Given the description of an element on the screen output the (x, y) to click on. 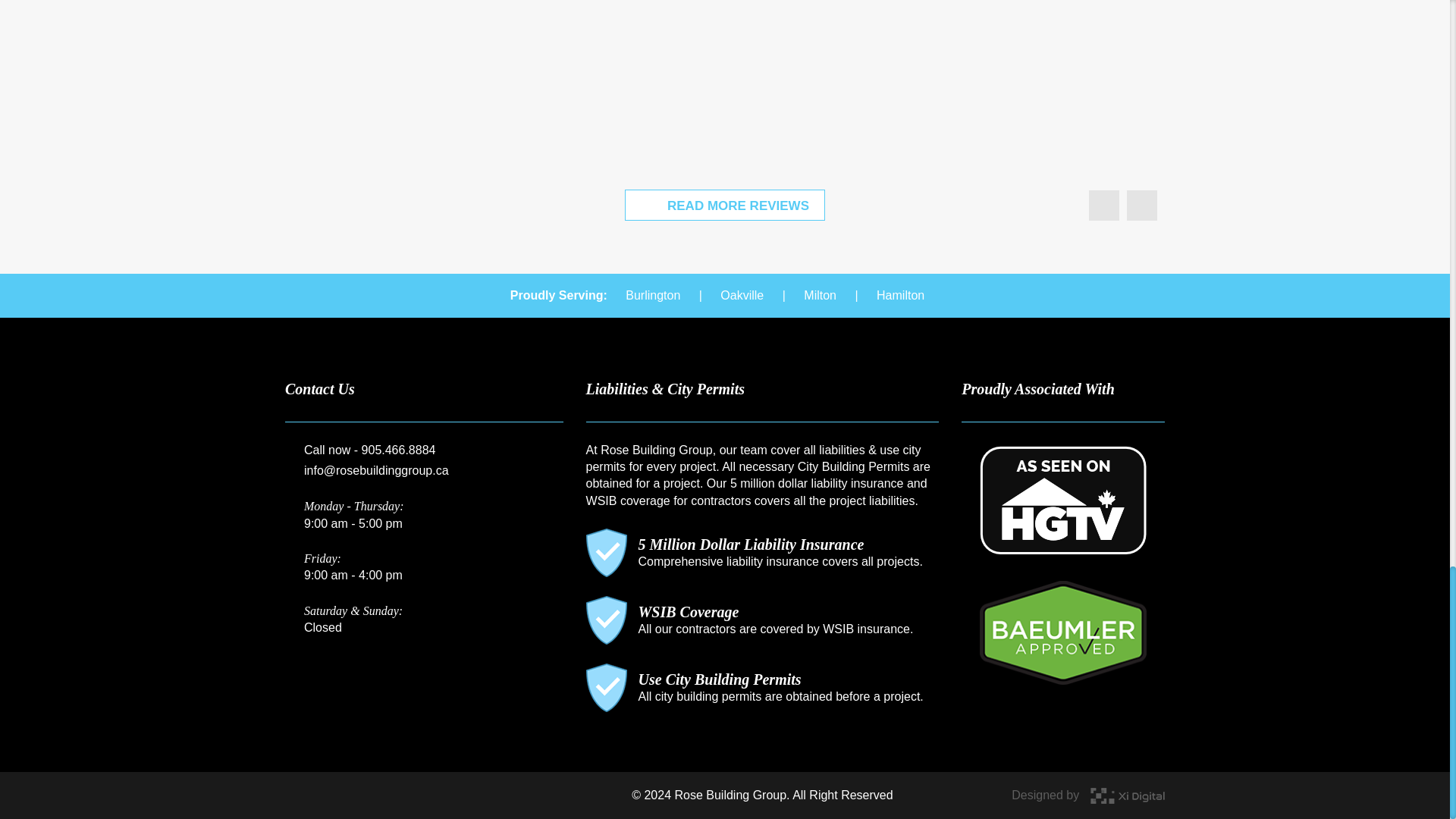
Burlington (652, 294)
Milton (819, 294)
905.466.8884 (398, 449)
READ MORE REVIEWS (724, 204)
Oakville (741, 294)
Hamilton (900, 294)
